Given the description of an element on the screen output the (x, y) to click on. 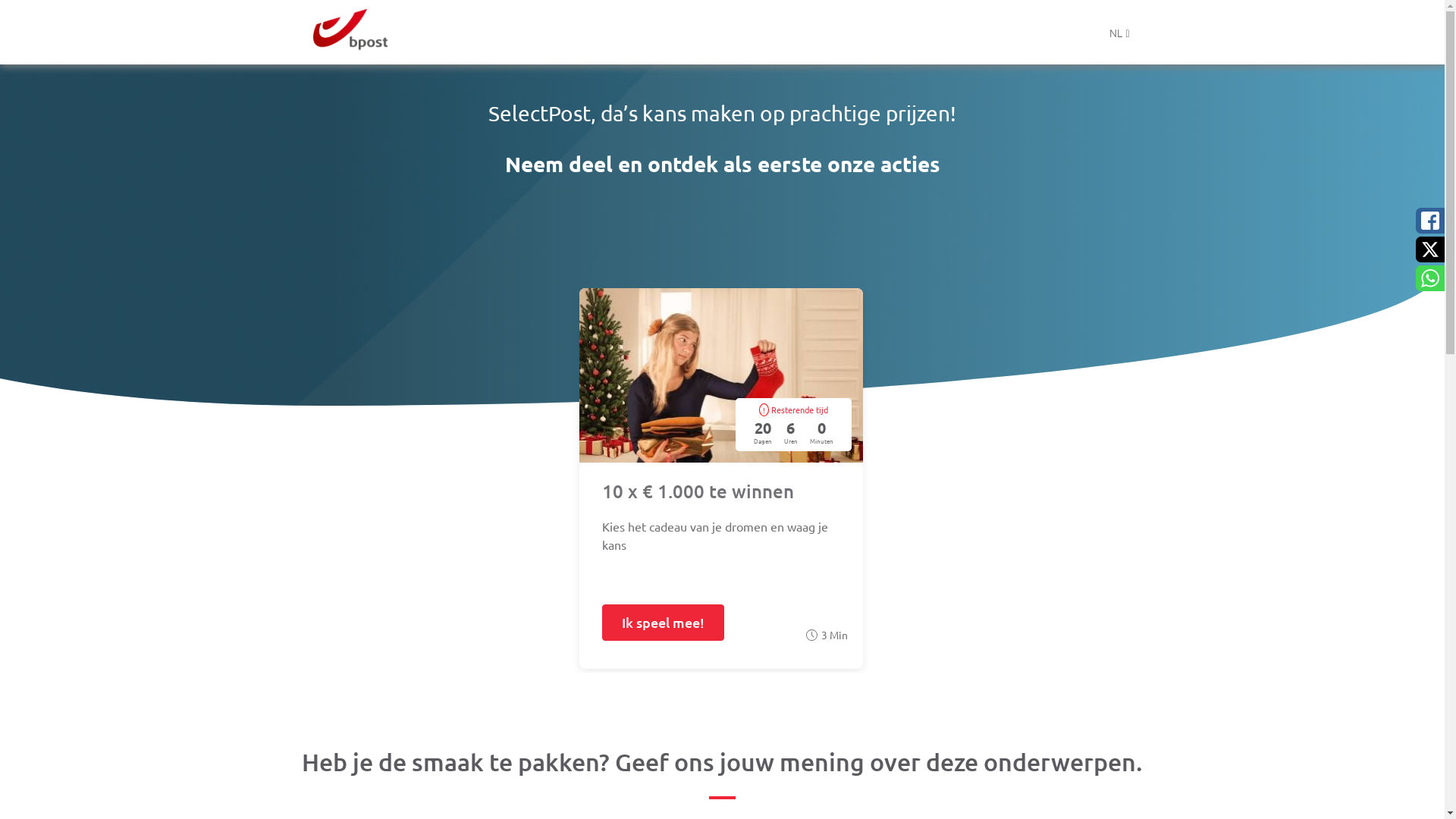
Ik speel mee! Element type: text (663, 622)
